Given the description of an element on the screen output the (x, y) to click on. 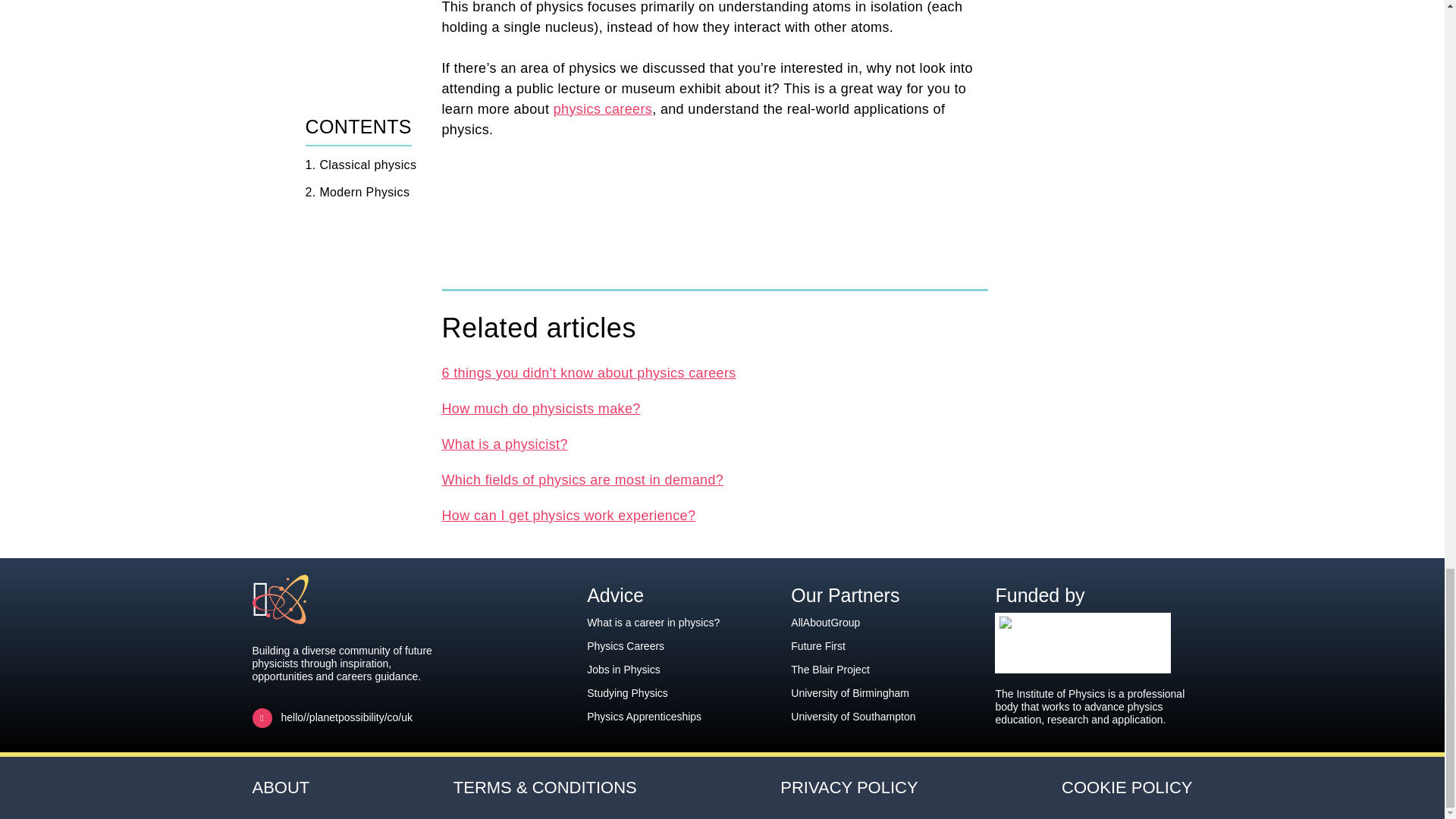
AllAboutGroup (825, 622)
How much do physicists make? (540, 408)
The Blair Project (829, 669)
Physics Careers (624, 645)
University of Birmingham (849, 693)
physics careers (602, 109)
Jobs in Physics (622, 669)
What is a physicist? (504, 444)
What is a career in physics? (652, 622)
Studying Physics (627, 693)
Planet Possibility (308, 599)
Future First (817, 645)
Which fields of physics are most in demand? (582, 479)
6 things you didn't know about physics careers (588, 372)
Physics Apprenticeships (643, 716)
